Given the description of an element on the screen output the (x, y) to click on. 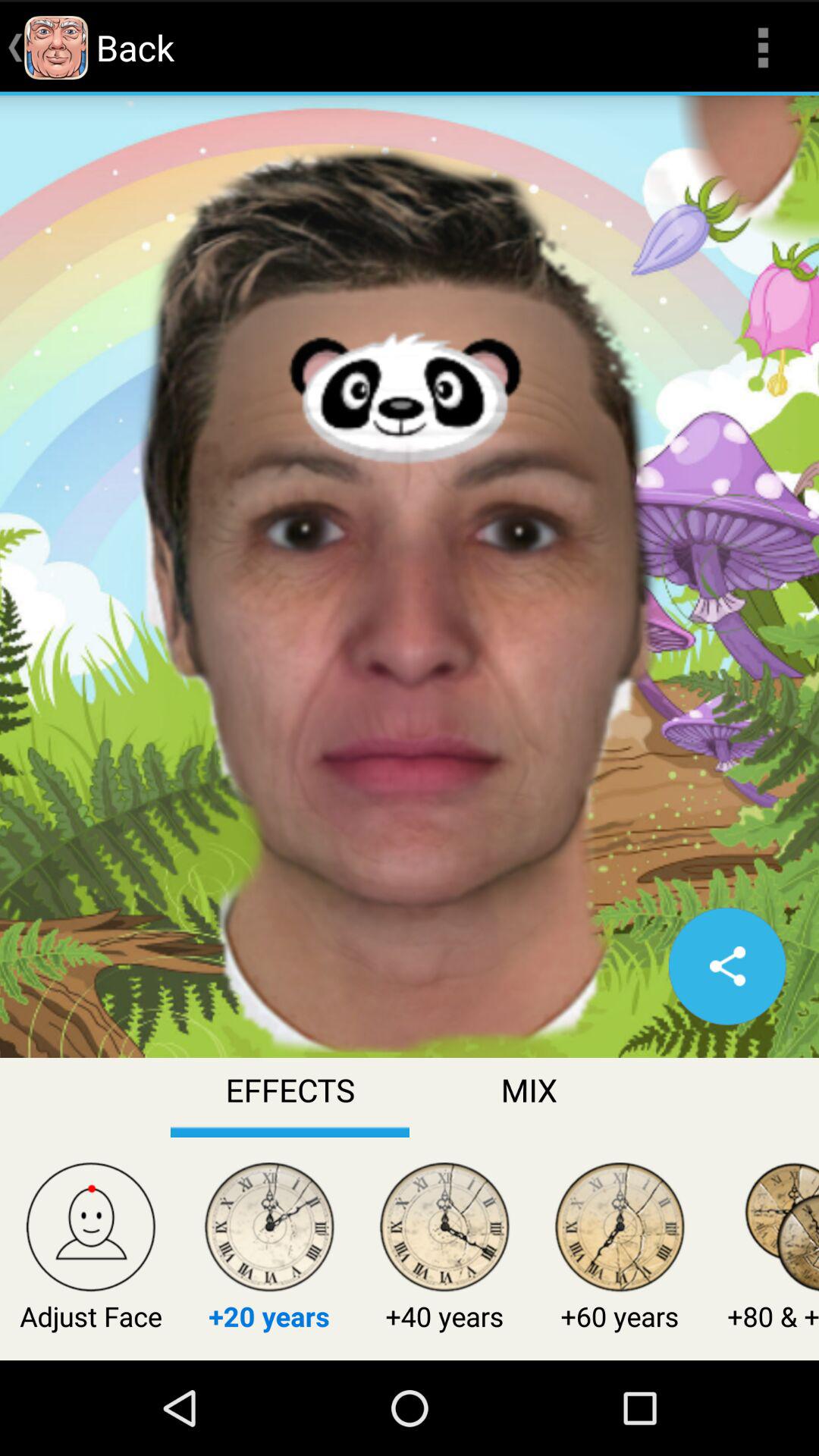
share option (727, 966)
